Given the description of an element on the screen output the (x, y) to click on. 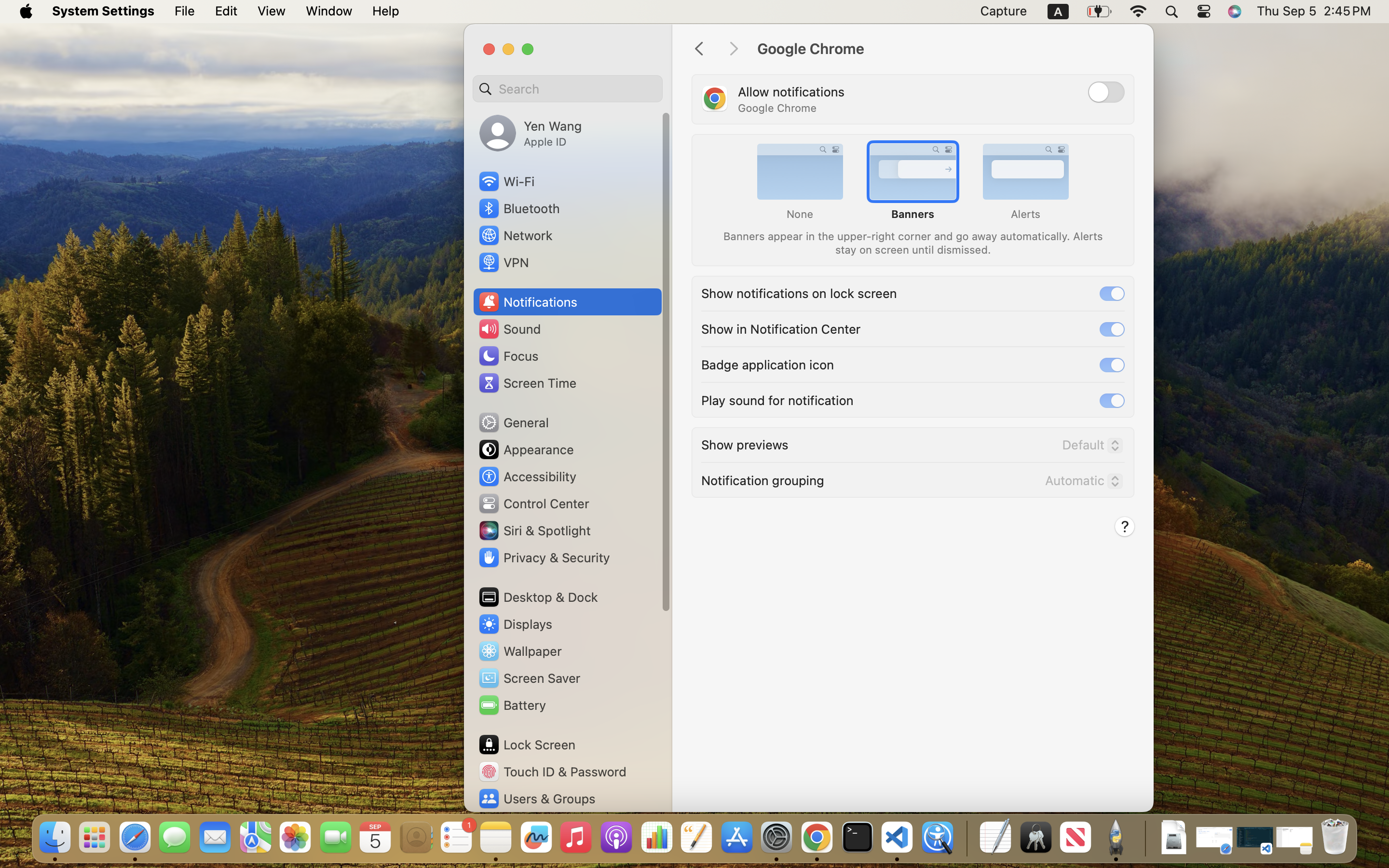
Automatic Element type: AXPopUpButton (1079, 482)
Badge application icon Element type: AXStaticText (767, 363)
Wallpaper Element type: AXStaticText (519, 650)
Displays Element type: AXStaticText (514, 623)
Control Center Element type: AXStaticText (533, 503)
